Given the description of an element on the screen output the (x, y) to click on. 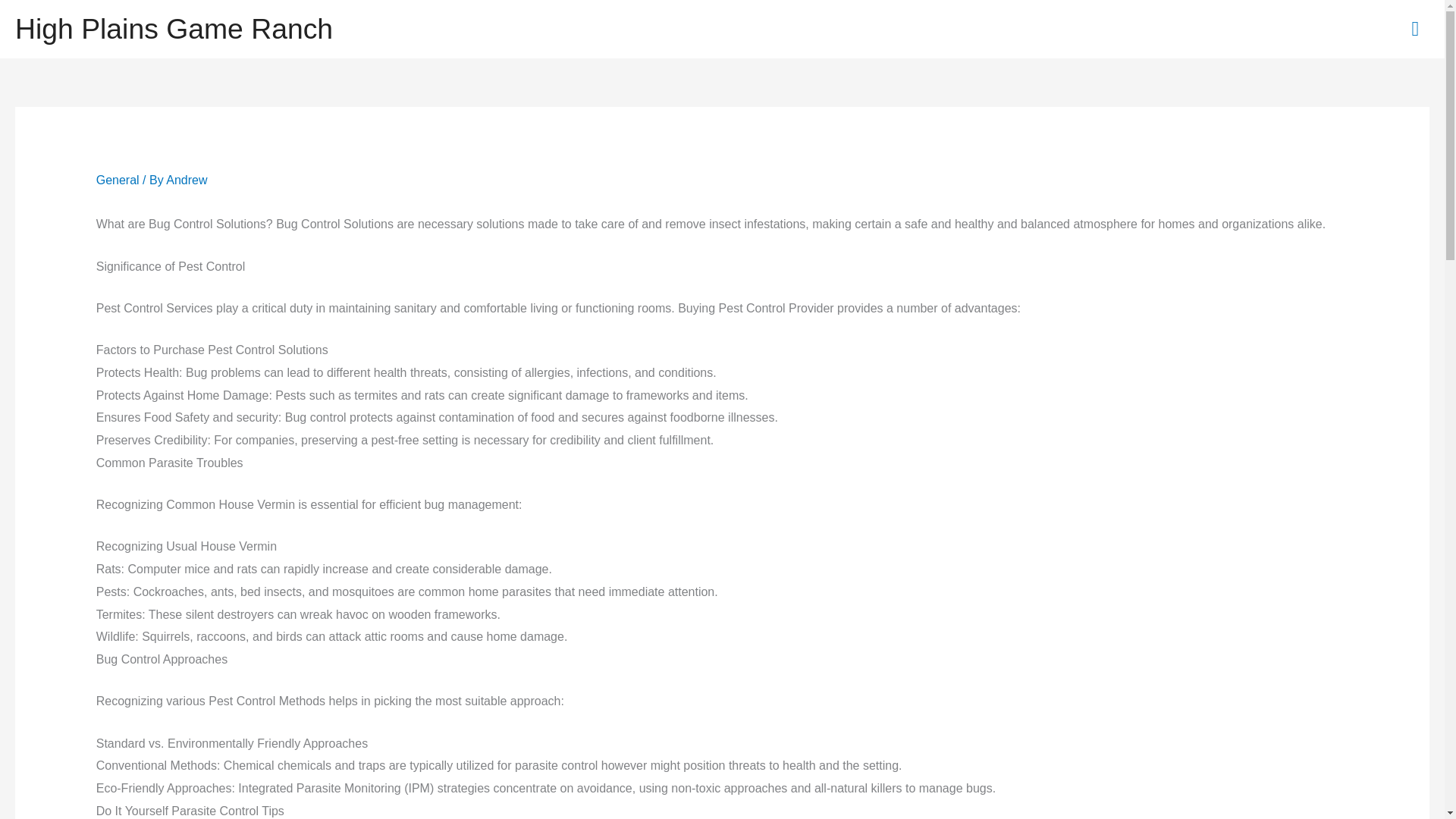
View all posts by Andrew (185, 179)
General (117, 179)
High Plains Game Ranch (173, 29)
Andrew (185, 179)
